Given the description of an element on the screen output the (x, y) to click on. 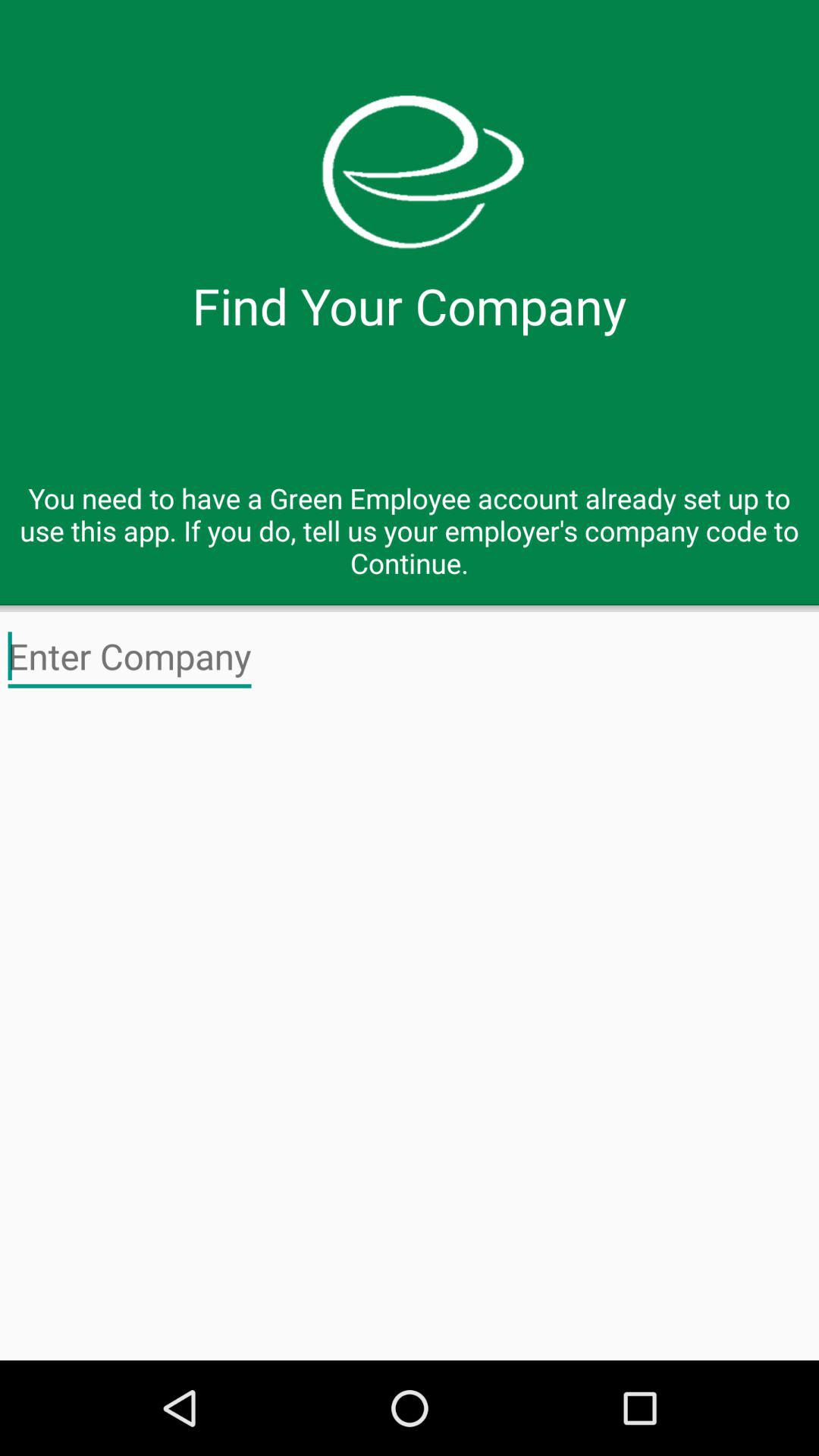
enter test for company name (129, 656)
